Given the description of an element on the screen output the (x, y) to click on. 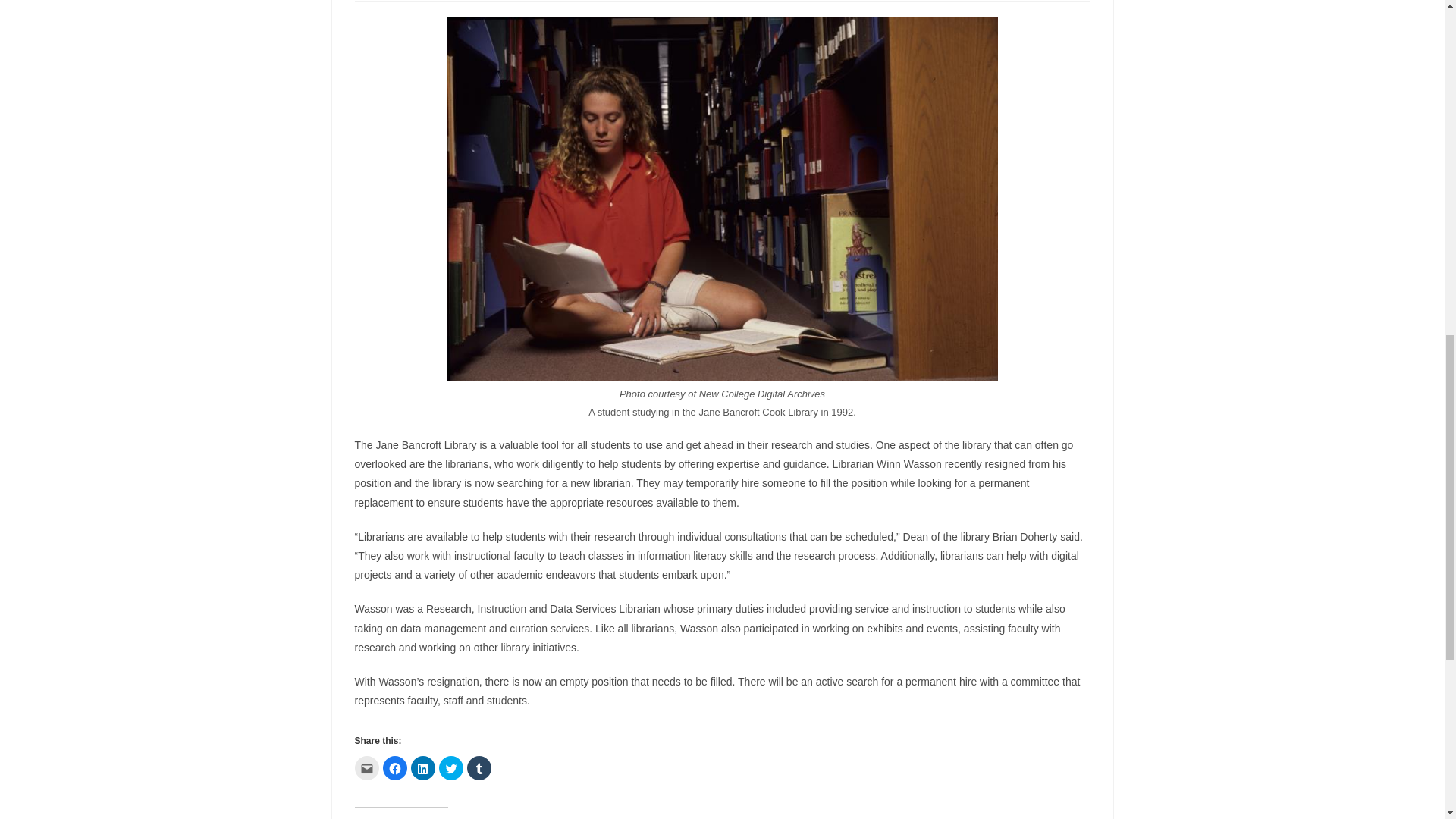
Click to share on Facebook (393, 767)
Click to share on LinkedIn (422, 767)
Click to share on Tumblr (479, 767)
Click to email this to a friend (366, 767)
Click to share on Twitter (450, 767)
